Given the description of an element on the screen output the (x, y) to click on. 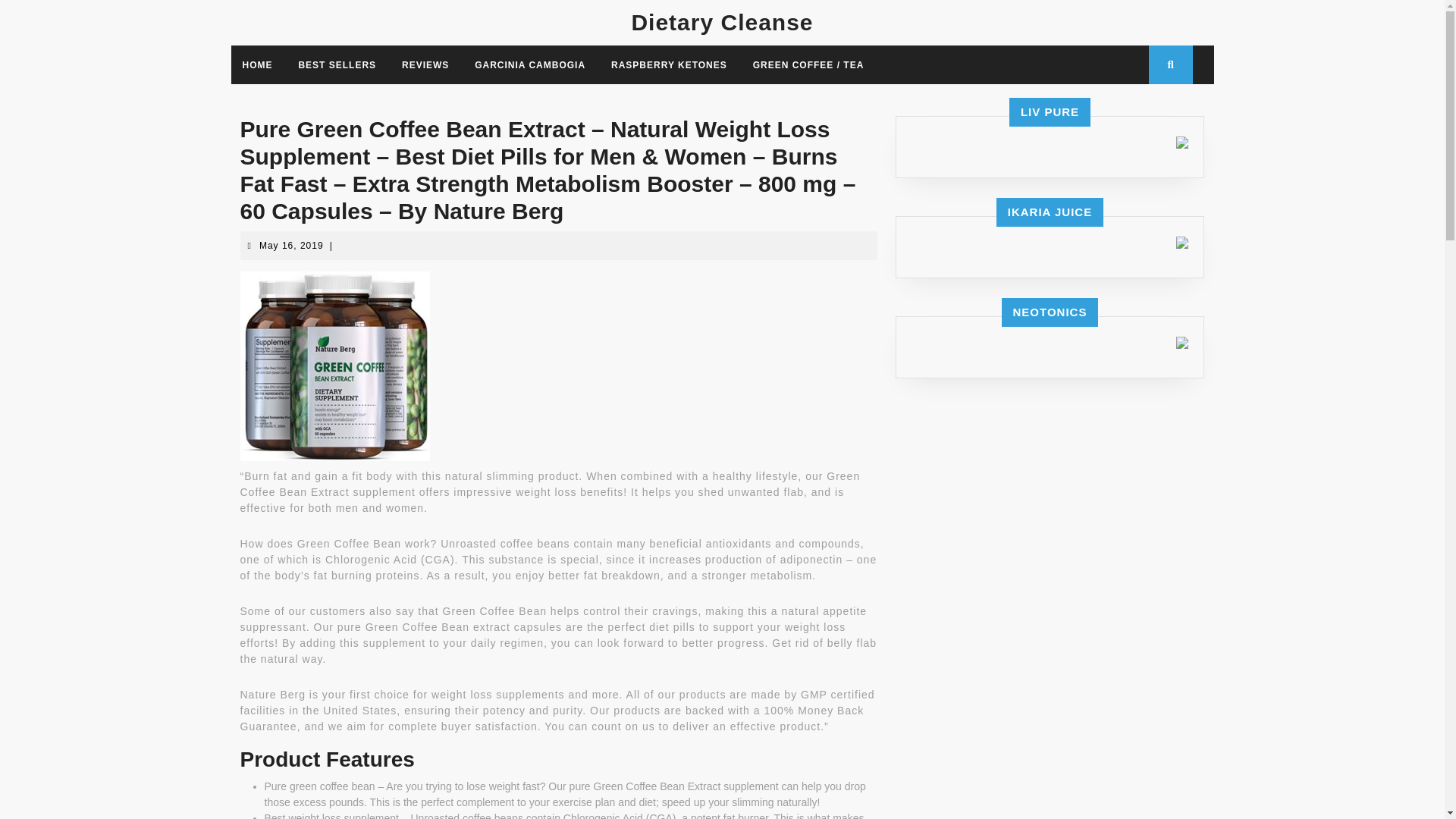
RASPBERRY KETONES (668, 64)
HOME (256, 64)
BEST SELLERS (336, 64)
Dietary Cleanse (721, 22)
REVIEWS (425, 64)
GARCINIA CAMBOGIA (529, 64)
